Given the description of an element on the screen output the (x, y) to click on. 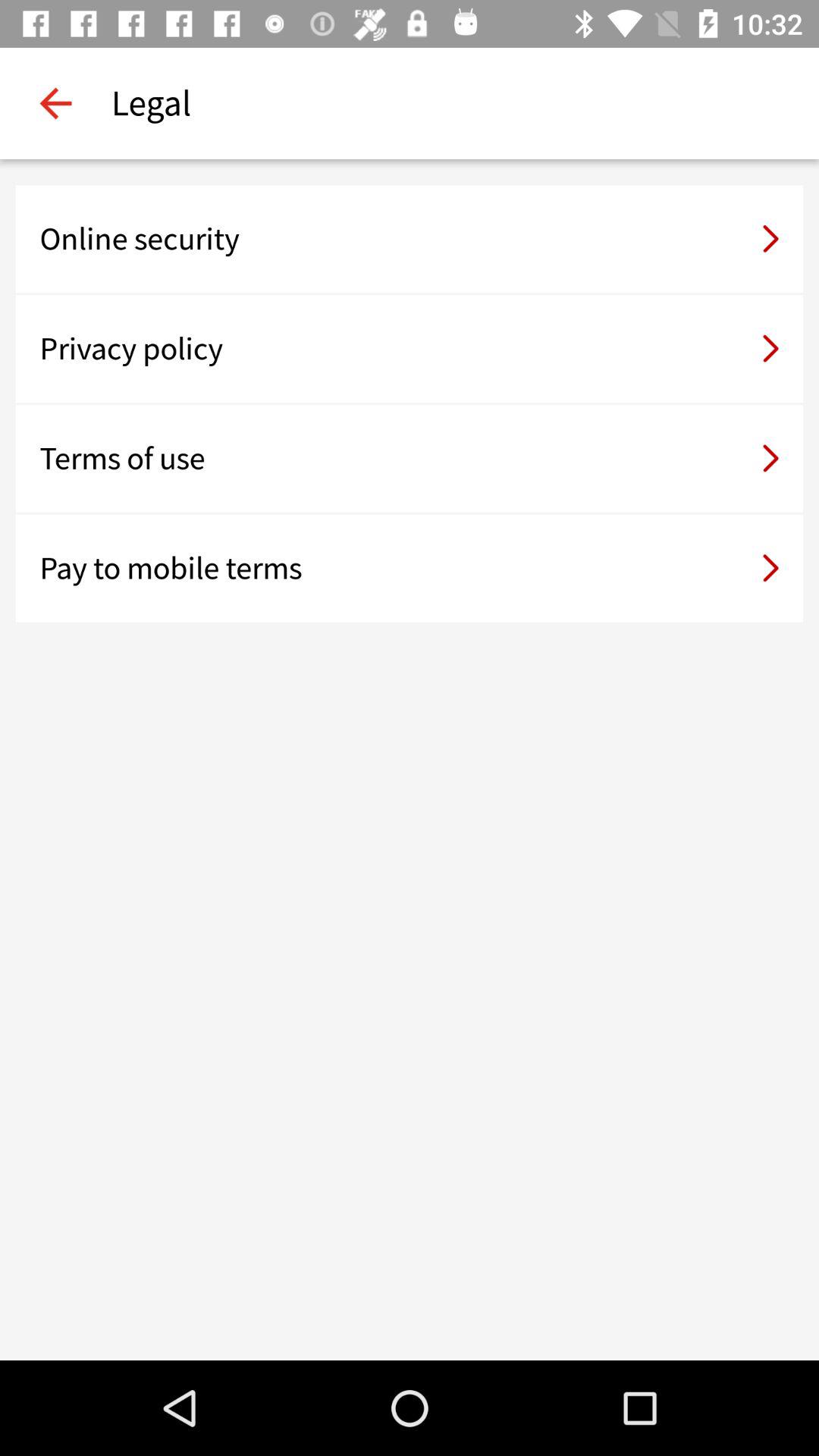
flip to the terms of use (409, 458)
